Given the description of an element on the screen output the (x, y) to click on. 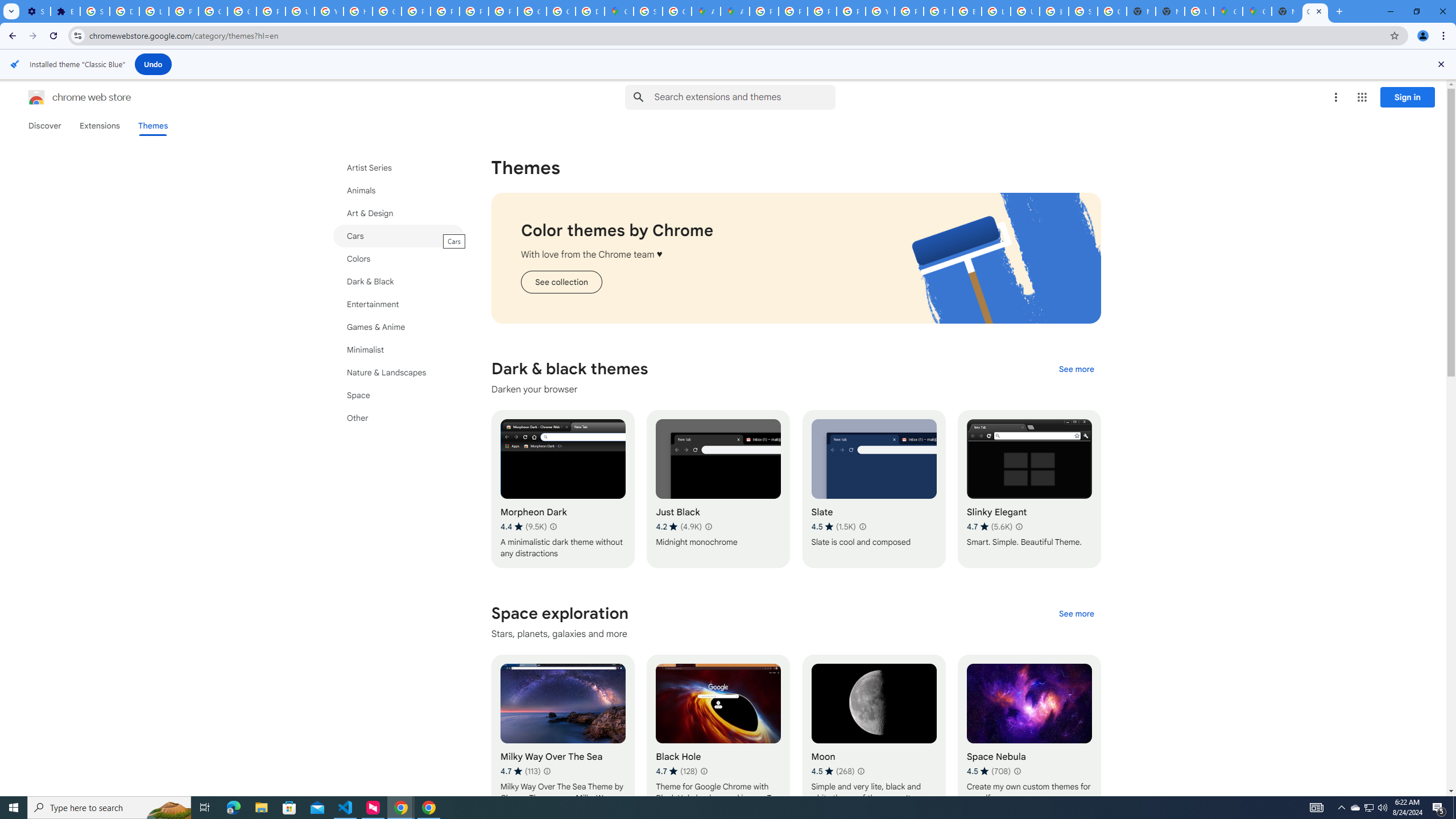
Themes (152, 125)
See the "Color themes by Chrome" collection (560, 281)
Google Account Help (212, 11)
Google Maps (619, 11)
Black Hole (718, 733)
List of categories in Chrome Web Store. (398, 292)
Learn more about results and reviews "Just Black" (707, 526)
